Given the description of an element on the screen output the (x, y) to click on. 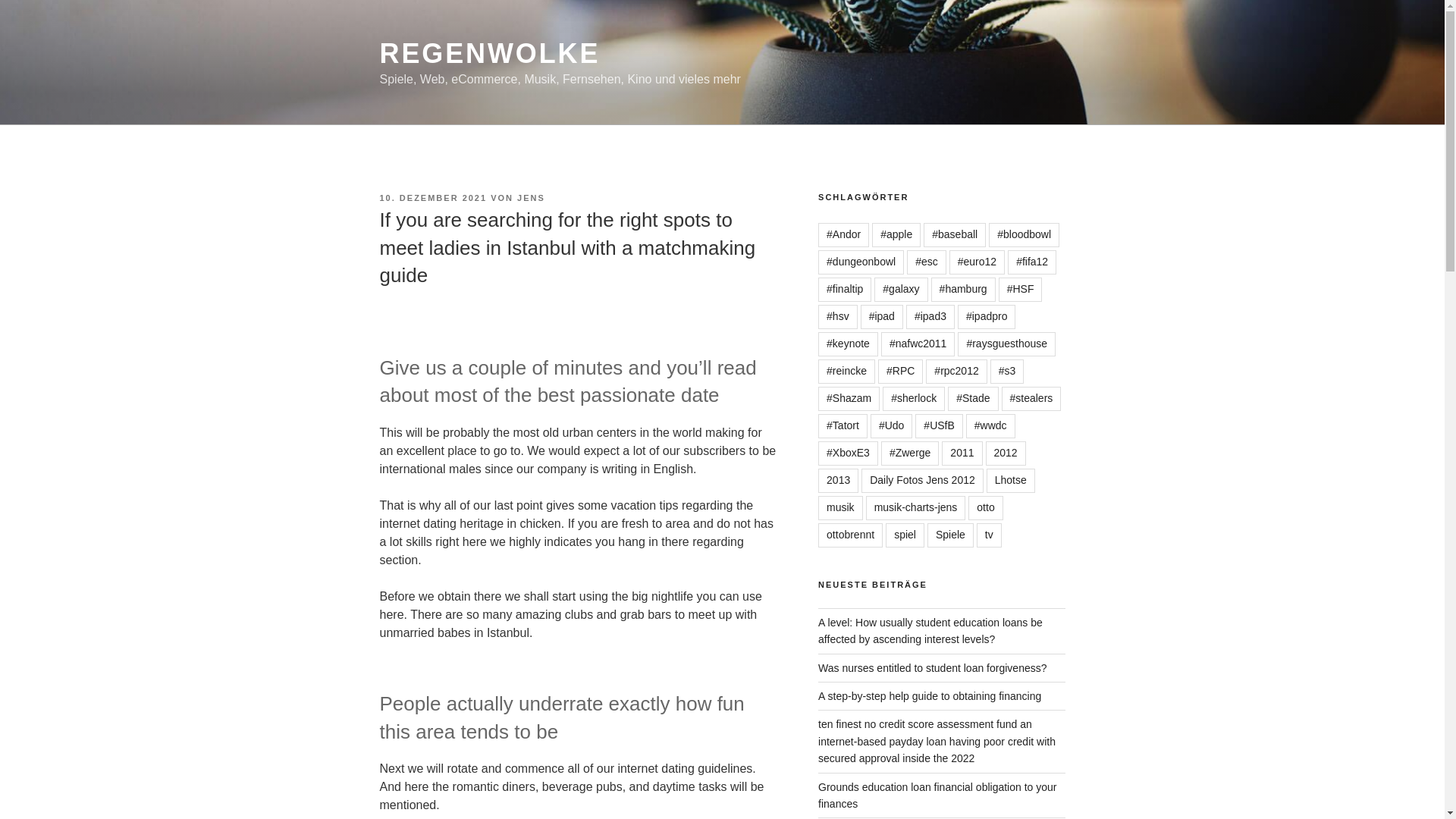
JENS (530, 197)
REGENWOLKE (488, 52)
10. DEZEMBER 2021 (432, 197)
